Given the description of an element on the screen output the (x, y) to click on. 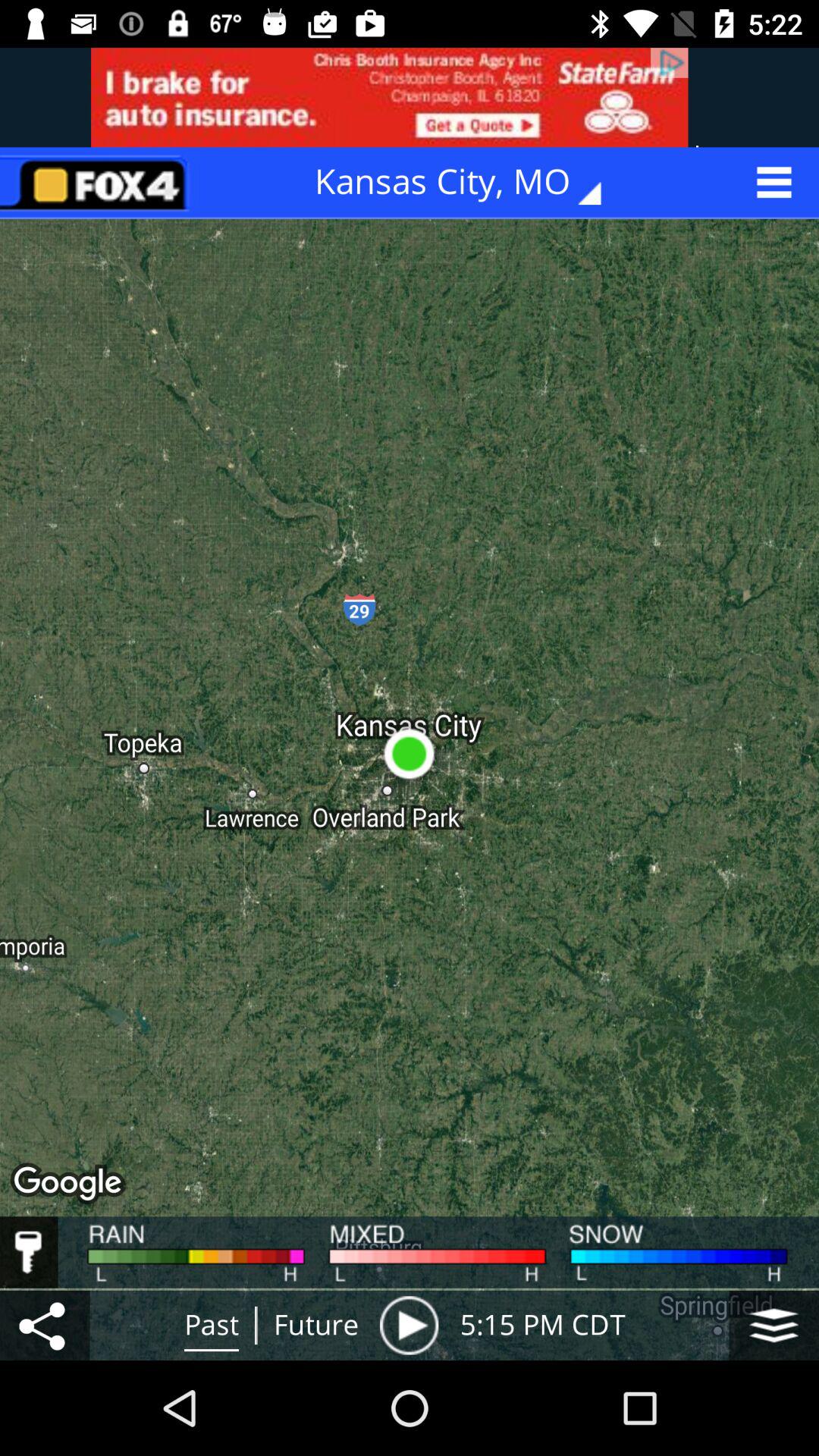
go home (99, 182)
